Given the description of an element on the screen output the (x, y) to click on. 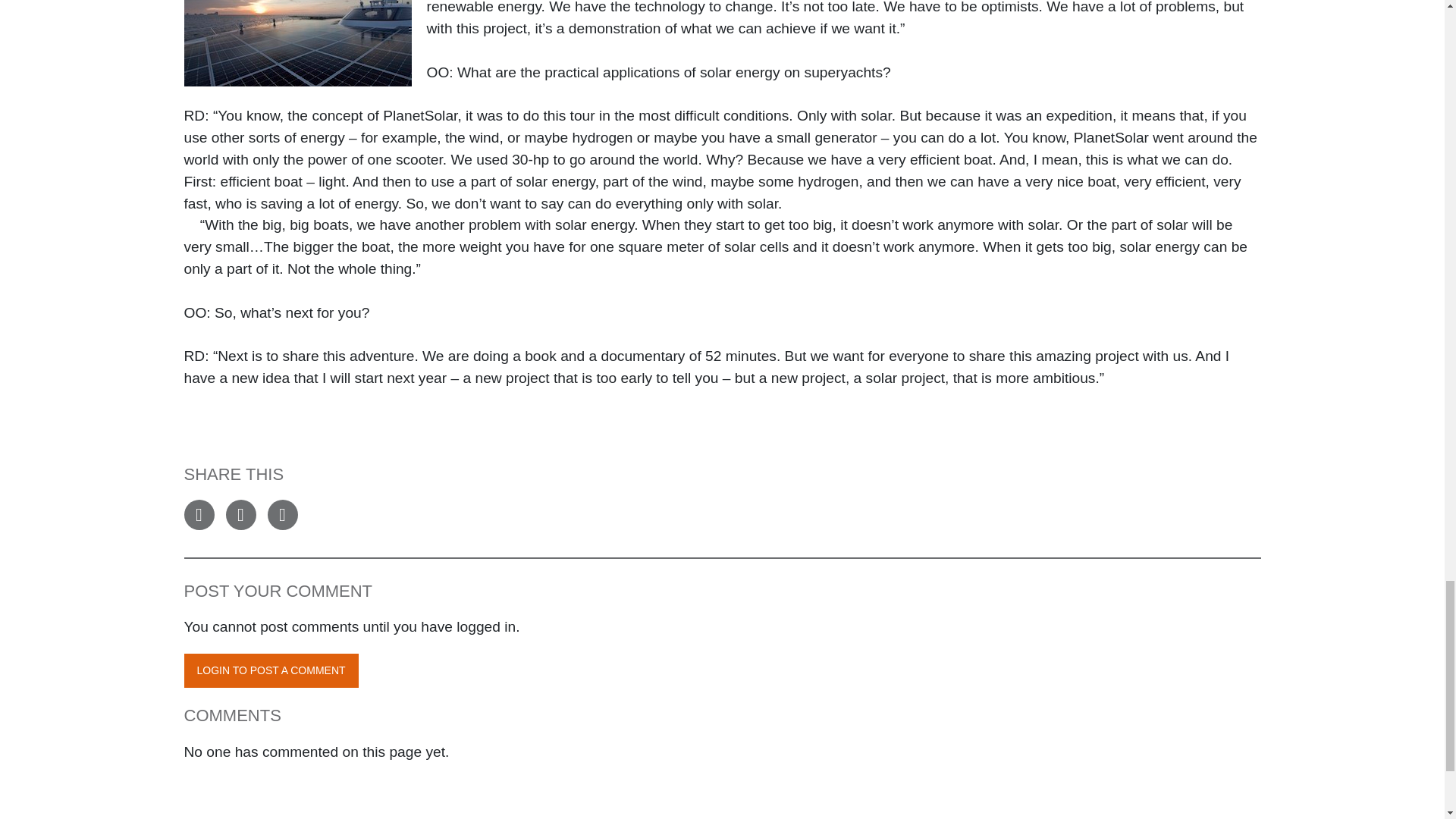
Login to post a comment (270, 670)
Share on LinkedIn (281, 514)
LOGIN TO POST A COMMENT (270, 670)
